Given the description of an element on the screen output the (x, y) to click on. 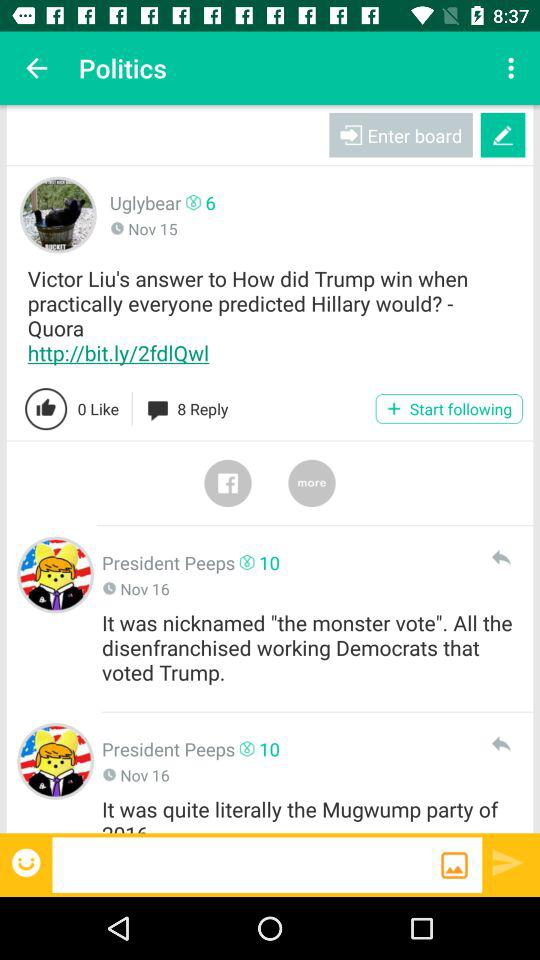
allows the user to reply to the comment (500, 744)
